Given the description of an element on the screen output the (x, y) to click on. 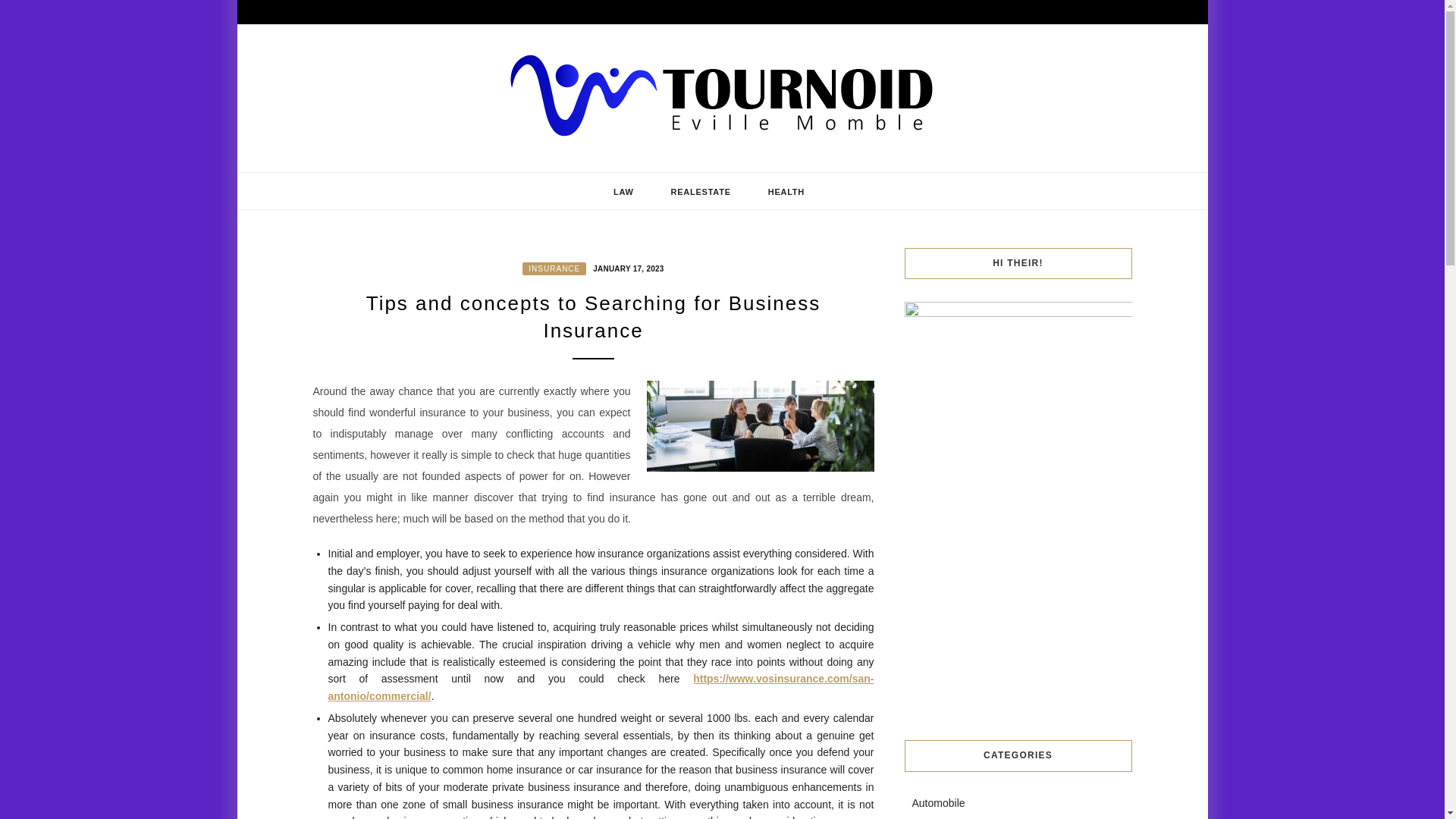
REALESTATE (700, 191)
Automobile (937, 802)
INSURANCE (554, 268)
TOURNOID EVILLE MOMBLE (533, 165)
HEALTH (786, 191)
JANUARY 17, 2023 (626, 267)
